Given the description of an element on the screen output the (x, y) to click on. 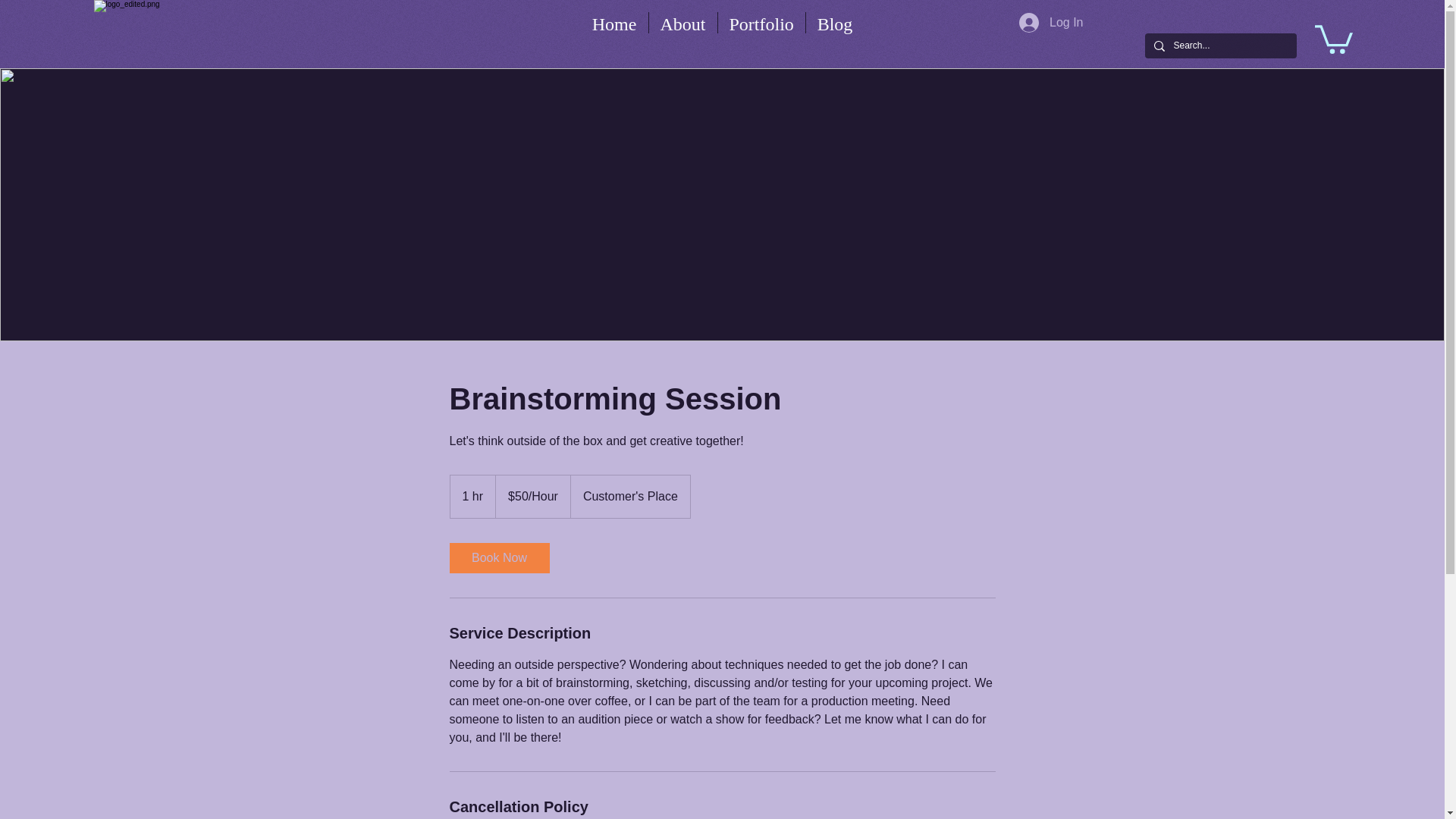
Home (613, 22)
About (683, 22)
Portfolio (761, 22)
Blog (834, 22)
Log In (1051, 22)
Book Now (498, 557)
